Given the description of an element on the screen output the (x, y) to click on. 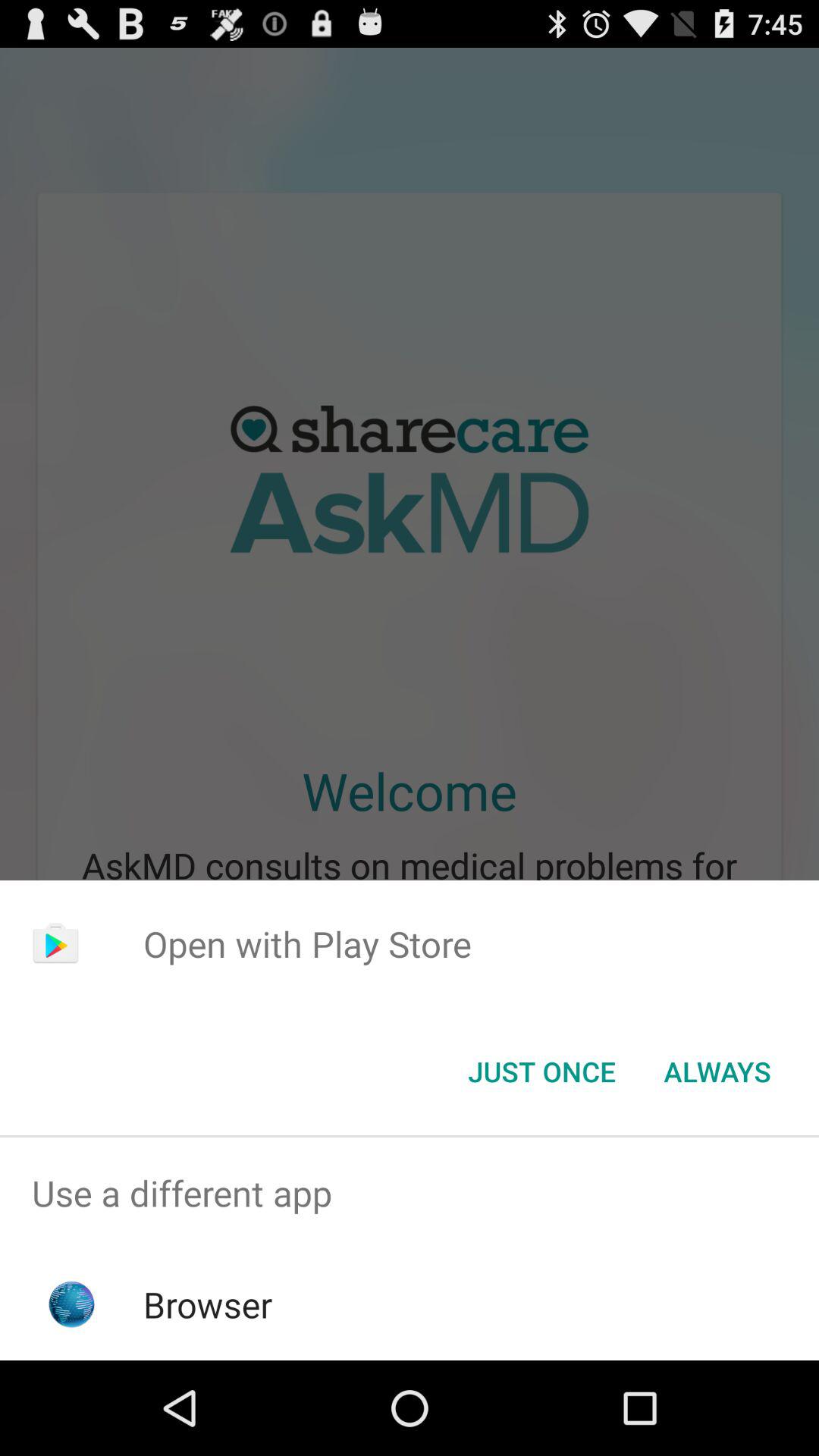
choose the icon below use a different (207, 1304)
